Given the description of an element on the screen output the (x, y) to click on. 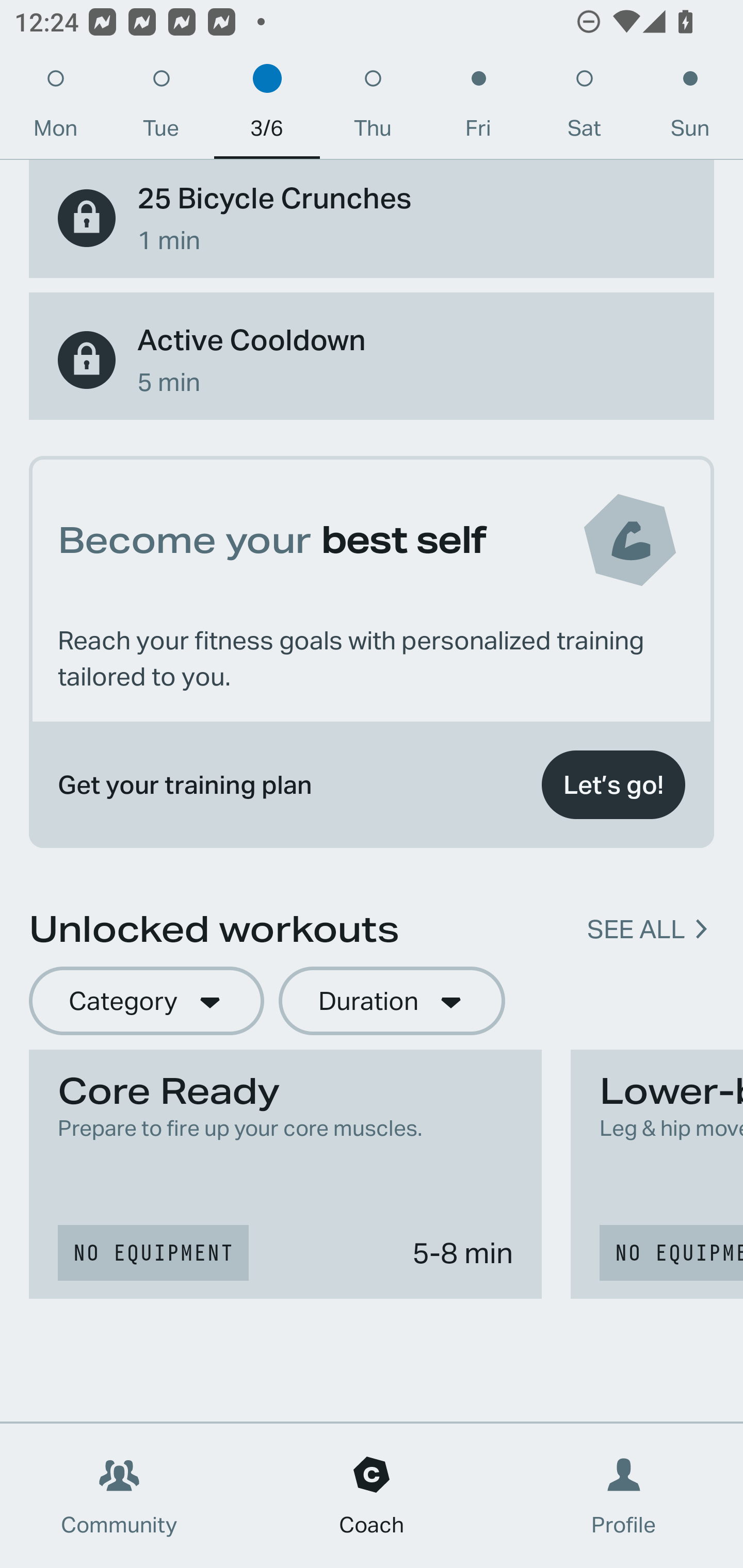
Mon (55, 108)
Tue (160, 108)
3/6 (266, 108)
Thu (372, 108)
Fri (478, 108)
Sat (584, 108)
Sun (690, 108)
25 Bicycle Crunches 1 min (371, 218)
Active Cooldown 5 min (371, 359)
Let’s go! (613, 784)
SEE ALL (635, 928)
Category (146, 1001)
Duration (391, 1001)
Community (119, 1495)
Profile (624, 1495)
